Given the description of an element on the screen output the (x, y) to click on. 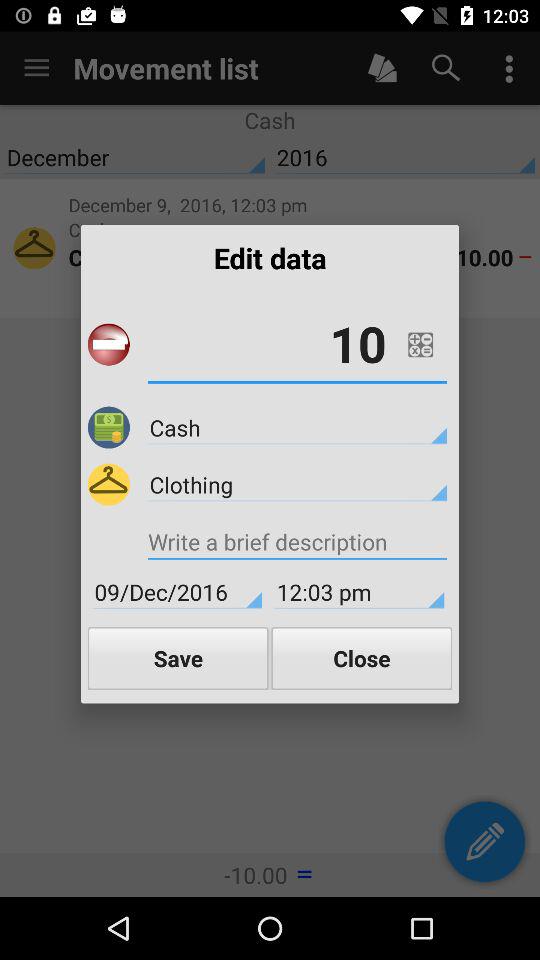
tap icon next to the 12:03 pm (177, 591)
